Given the description of an element on the screen output the (x, y) to click on. 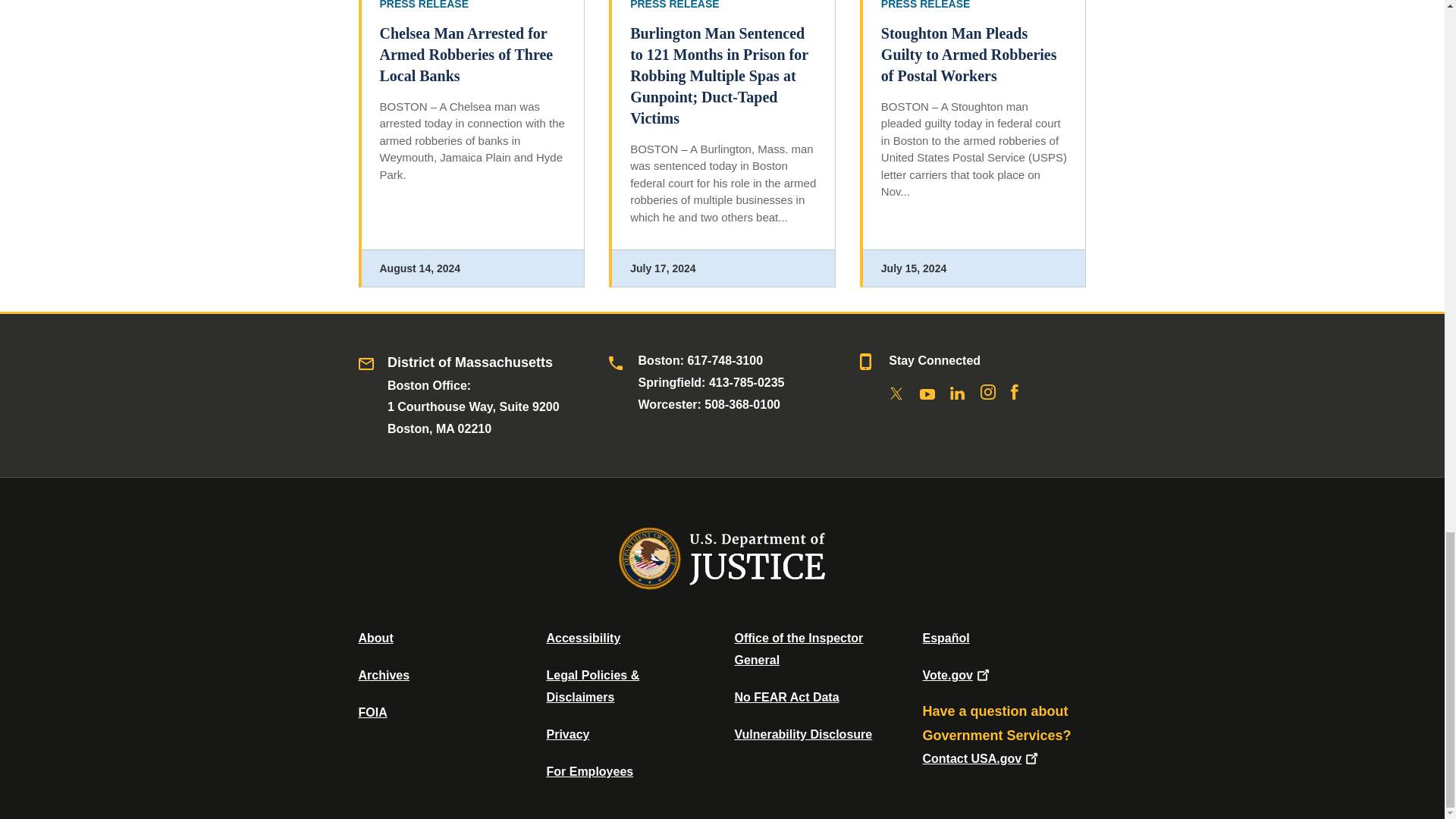
Data Posted Pursuant To The No Fear Act (785, 697)
Legal Policies and Disclaimers (592, 686)
Department of Justice Archive (383, 675)
For Employees (589, 771)
About DOJ (375, 637)
Accessibility Statement (583, 637)
Office of Information Policy (372, 712)
